Given the description of an element on the screen output the (x, y) to click on. 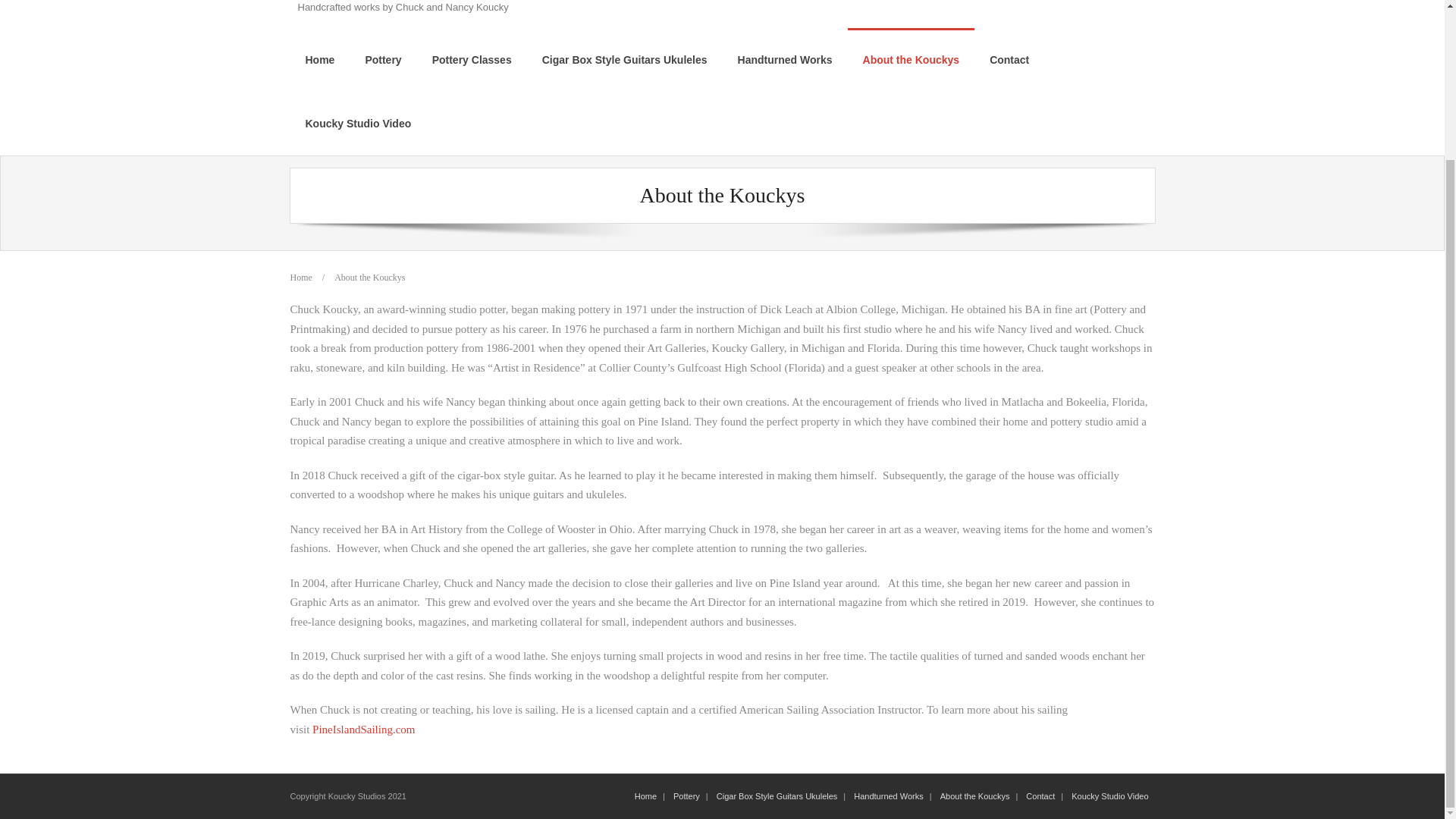
Home (319, 59)
Home (645, 795)
Pottery Classes (471, 59)
Handturned Works (784, 59)
PineIslandSailing.com (363, 729)
Pottery (382, 59)
About the Kouckys (911, 59)
Handcrafted works by Chuck and Nancy Koucky (402, 7)
Handturned Works (888, 795)
Koucky Studio Video (1109, 795)
Cigar Box Style Guitars Ukuleles (777, 795)
Home (300, 276)
About the Kouckys (975, 795)
Contact (1040, 795)
Koucky Studio Video (357, 123)
